Given the description of an element on the screen output the (x, y) to click on. 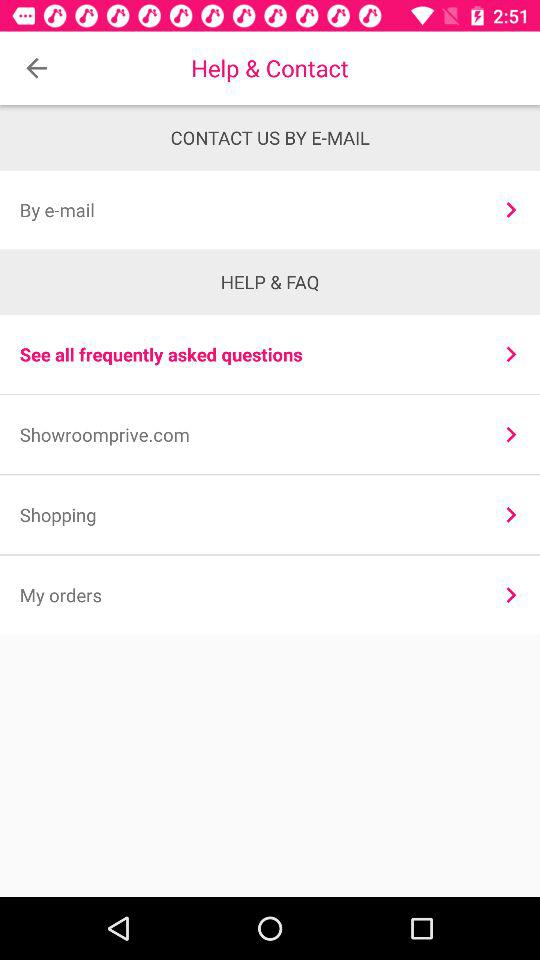
tap the icon below help & faq item (510, 354)
